Given the description of an element on the screen output the (x, y) to click on. 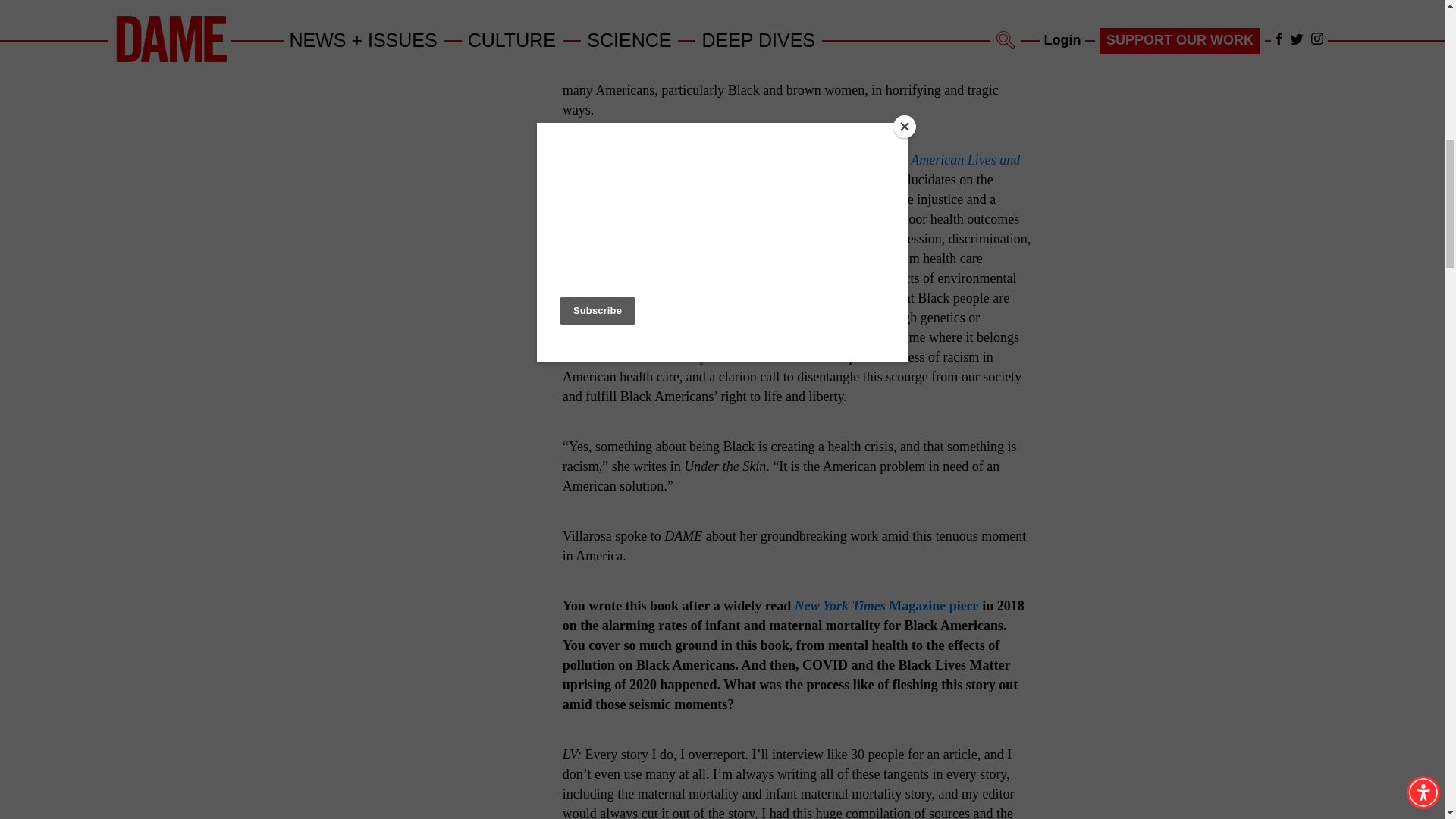
Email (485, 62)
Share (523, 61)
Twitter (446, 61)
